Given the description of an element on the screen output the (x, y) to click on. 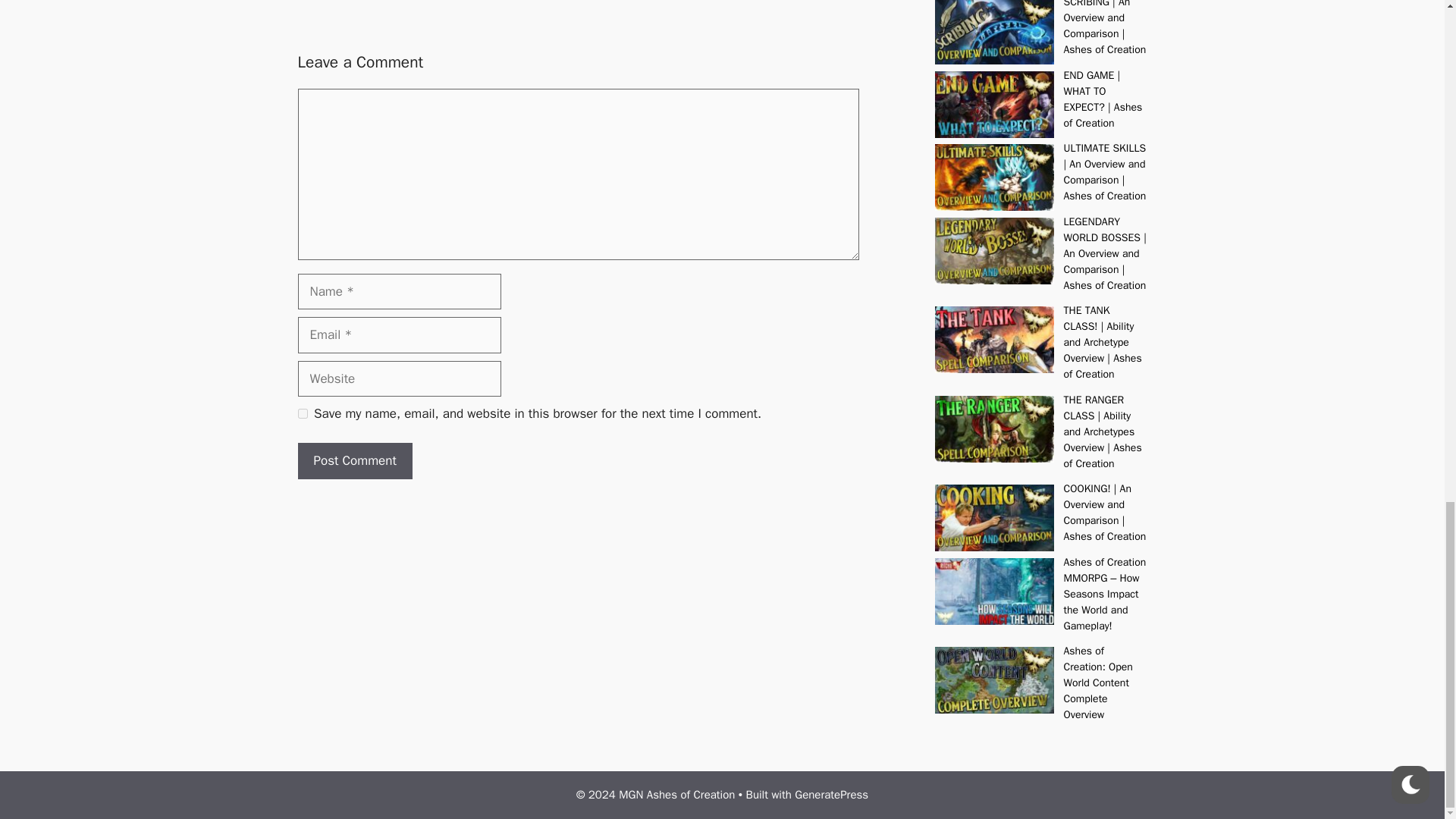
yes (302, 413)
Post Comment (354, 461)
